Given the description of an element on the screen output the (x, y) to click on. 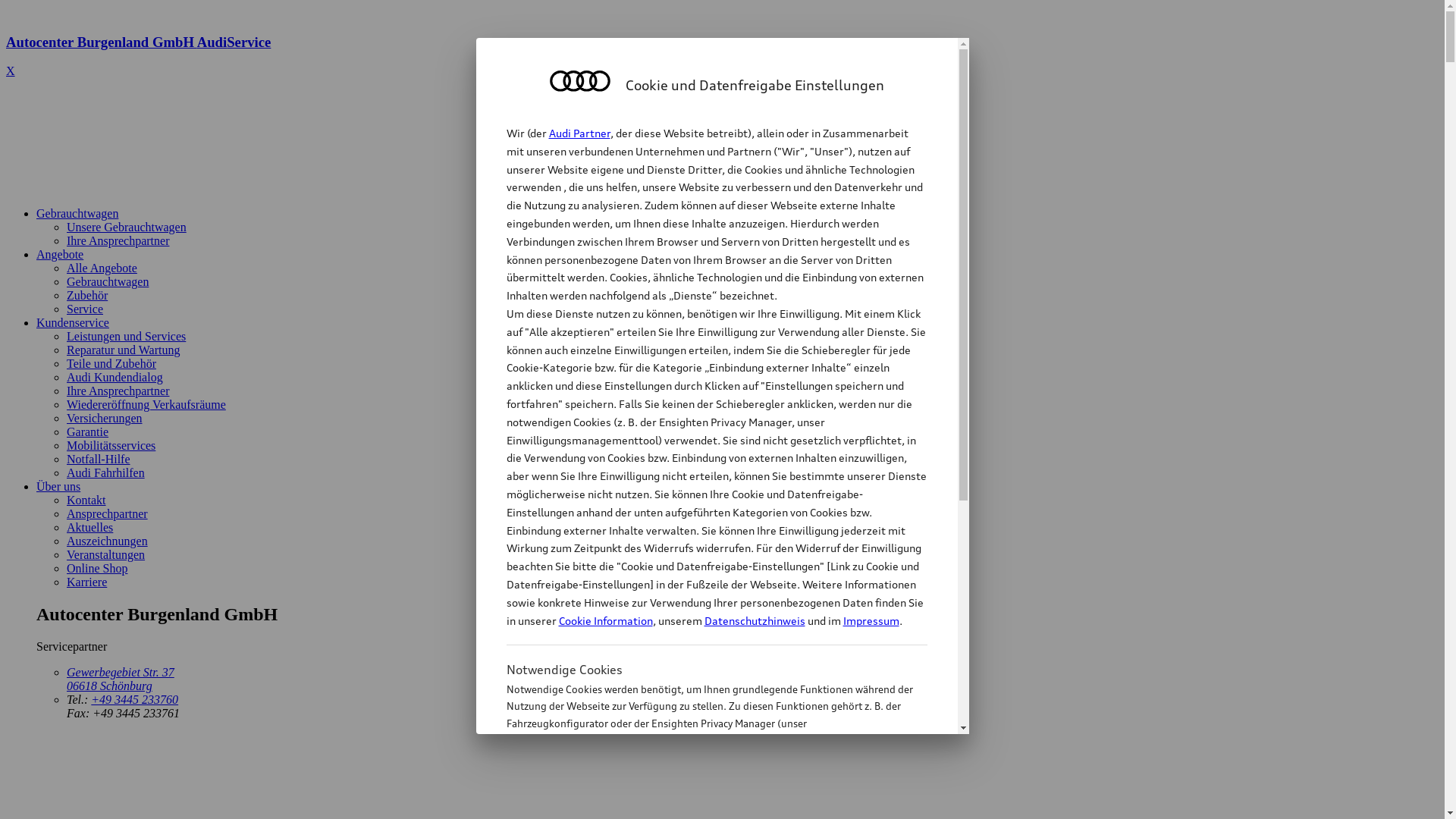
Ihre Ansprechpartner Element type: text (117, 240)
Audi Fahrhilfen Element type: text (105, 472)
Datenschutzhinweis Element type: text (753, 620)
Autocenter Burgenland GmbH AudiService Element type: text (722, 56)
Leistungen und Services Element type: text (125, 335)
Cookie Information Element type: text (605, 620)
Veranstaltungen Element type: text (105, 554)
Garantie Element type: text (87, 431)
Ihre Ansprechpartner Element type: text (117, 390)
Karriere Element type: text (86, 581)
Auszeichnungen Element type: text (106, 540)
Versicherungen Element type: text (104, 417)
+49 3445 233760 Element type: text (134, 699)
Audi Kundendialog Element type: text (114, 376)
Gebrauchtwagen Element type: text (107, 281)
Unsere Gebrauchtwagen Element type: text (126, 226)
Alle Angebote Element type: text (101, 267)
Notfall-Hilfe Element type: text (98, 458)
Reparatur und Wartung Element type: text (122, 349)
Cookie Information Element type: text (700, 798)
Ansprechpartner Element type: text (106, 513)
Kontakt Element type: text (86, 499)
Kundenservice Element type: text (72, 322)
Online Shop Element type: text (96, 567)
X Element type: text (10, 70)
Audi Partner Element type: text (579, 132)
Aktuelles Element type: text (89, 526)
Service Element type: text (84, 308)
Gebrauchtwagen Element type: text (77, 213)
Impressum Element type: text (871, 620)
Angebote Element type: text (59, 253)
